Given the description of an element on the screen output the (x, y) to click on. 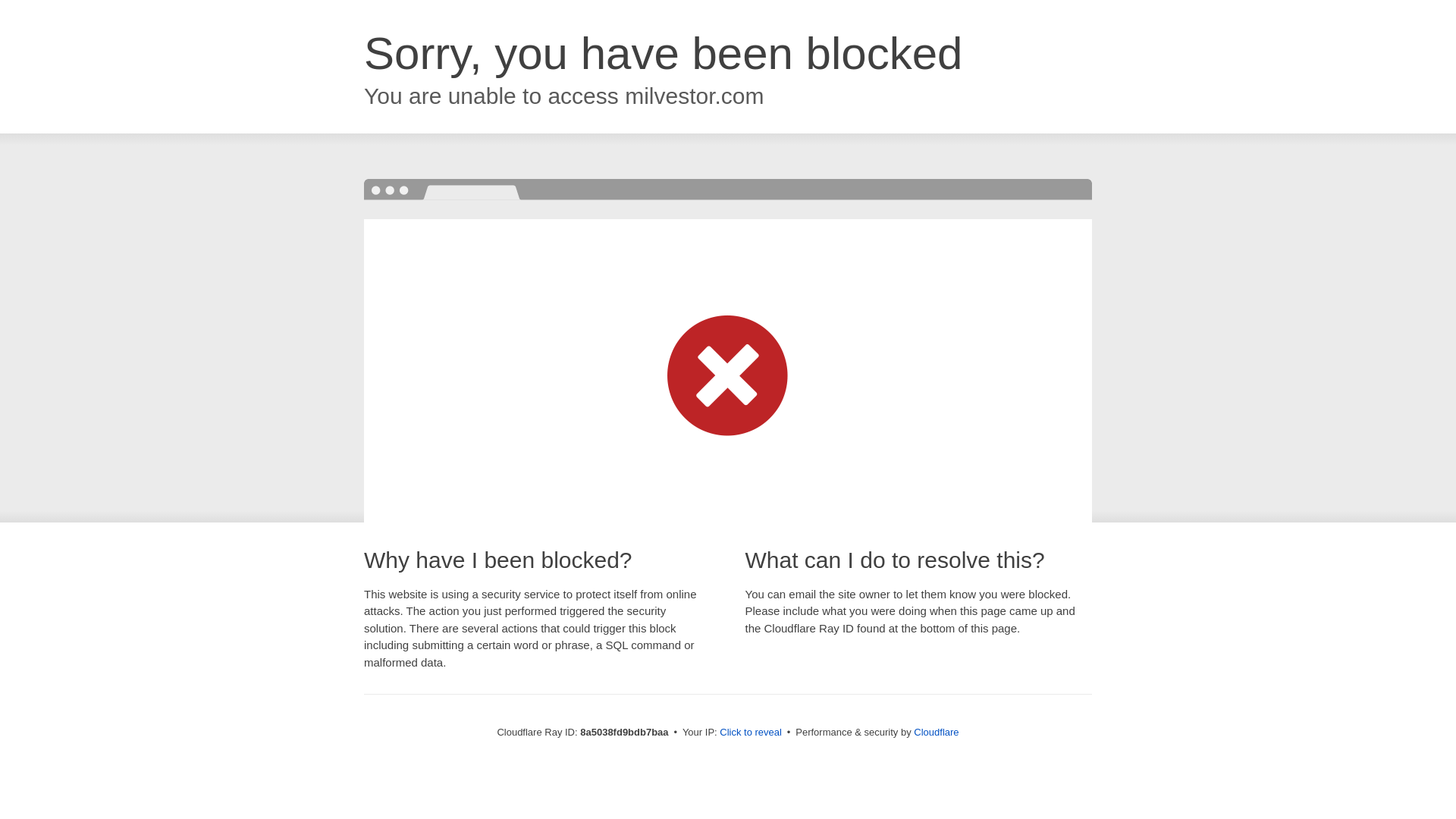
Click to reveal (750, 732)
Cloudflare (936, 731)
